Given the description of an element on the screen output the (x, y) to click on. 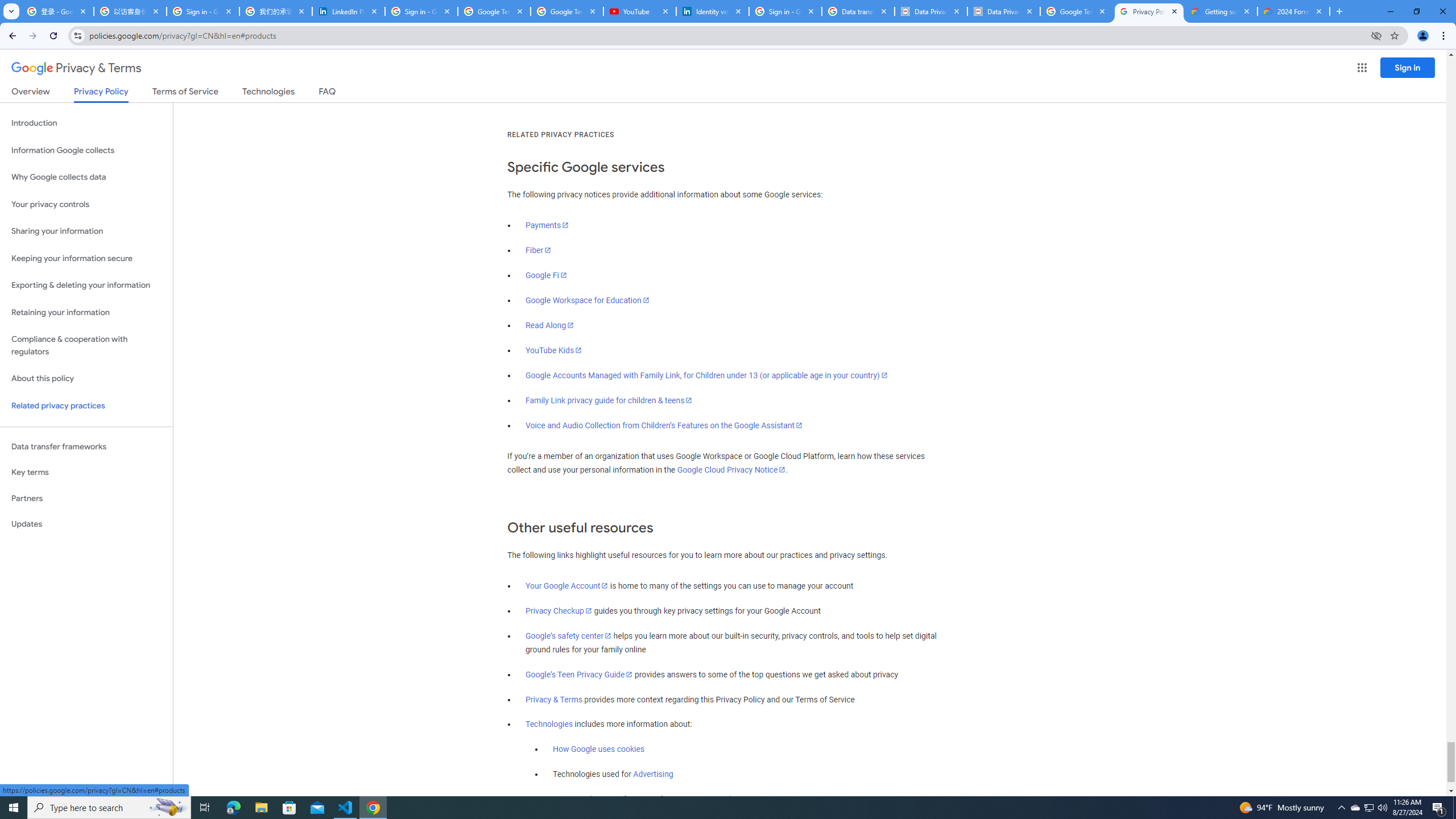
Partners (86, 497)
Payments (547, 225)
Keeping your information secure (86, 258)
Sign in - Google Accounts (421, 11)
Key terms (86, 472)
Compliance & cooperation with regulators (86, 345)
Privacy Checkup (558, 610)
Terms of Service (184, 93)
